Given the description of an element on the screen output the (x, y) to click on. 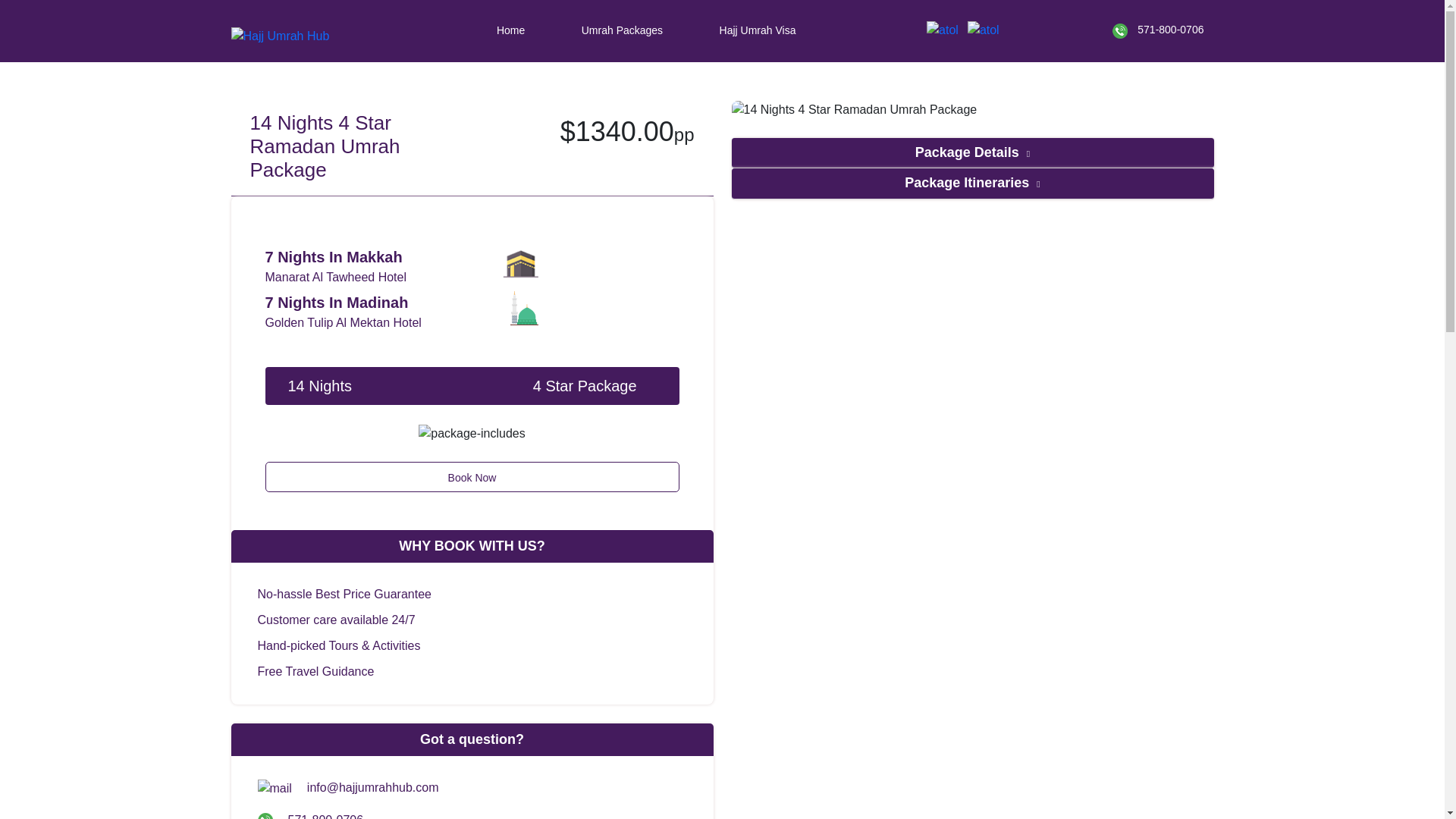
Hajj Umrah Visa (757, 30)
Umrah Packages (621, 30)
Home (510, 30)
571-800-0706 (1158, 29)
Book Now (471, 476)
571-800-0706 (310, 816)
